Given the description of an element on the screen output the (x, y) to click on. 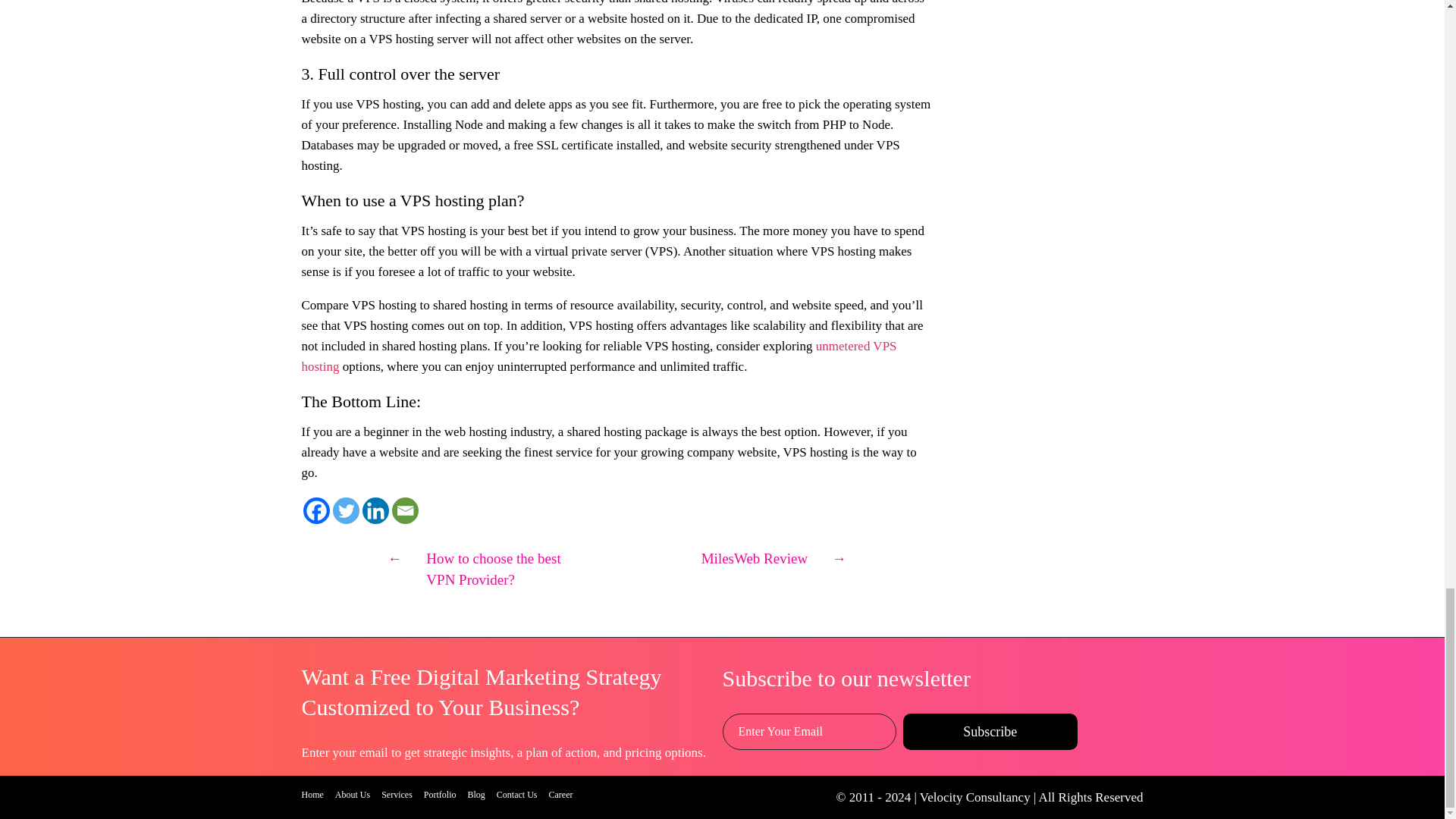
Linkedin (375, 510)
Email (404, 510)
Subscribe (989, 731)
Twitter (344, 510)
Facebook (316, 510)
